Given the description of an element on the screen output the (x, y) to click on. 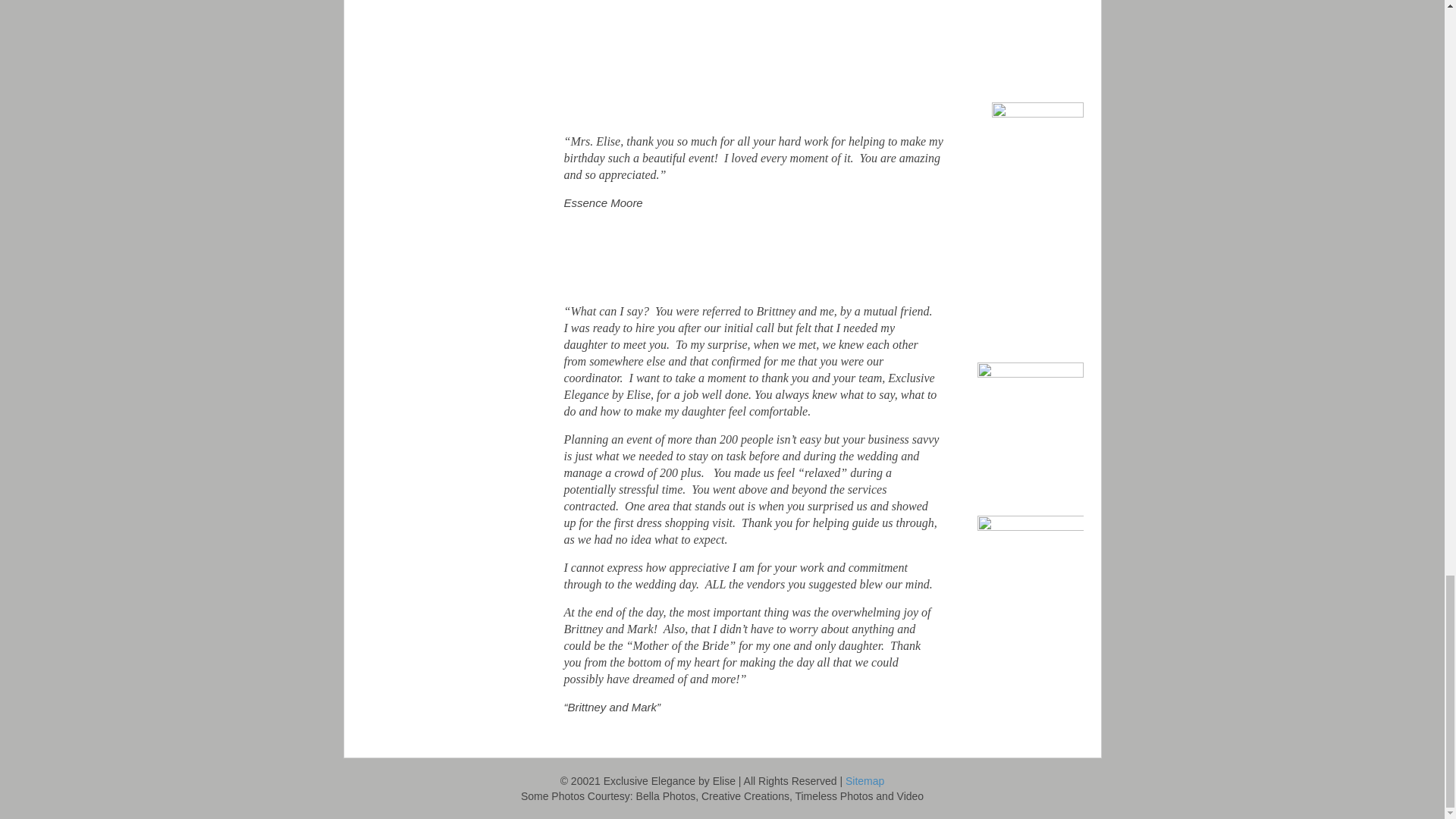
Sitemap (864, 780)
